Given the description of an element on the screen output the (x, y) to click on. 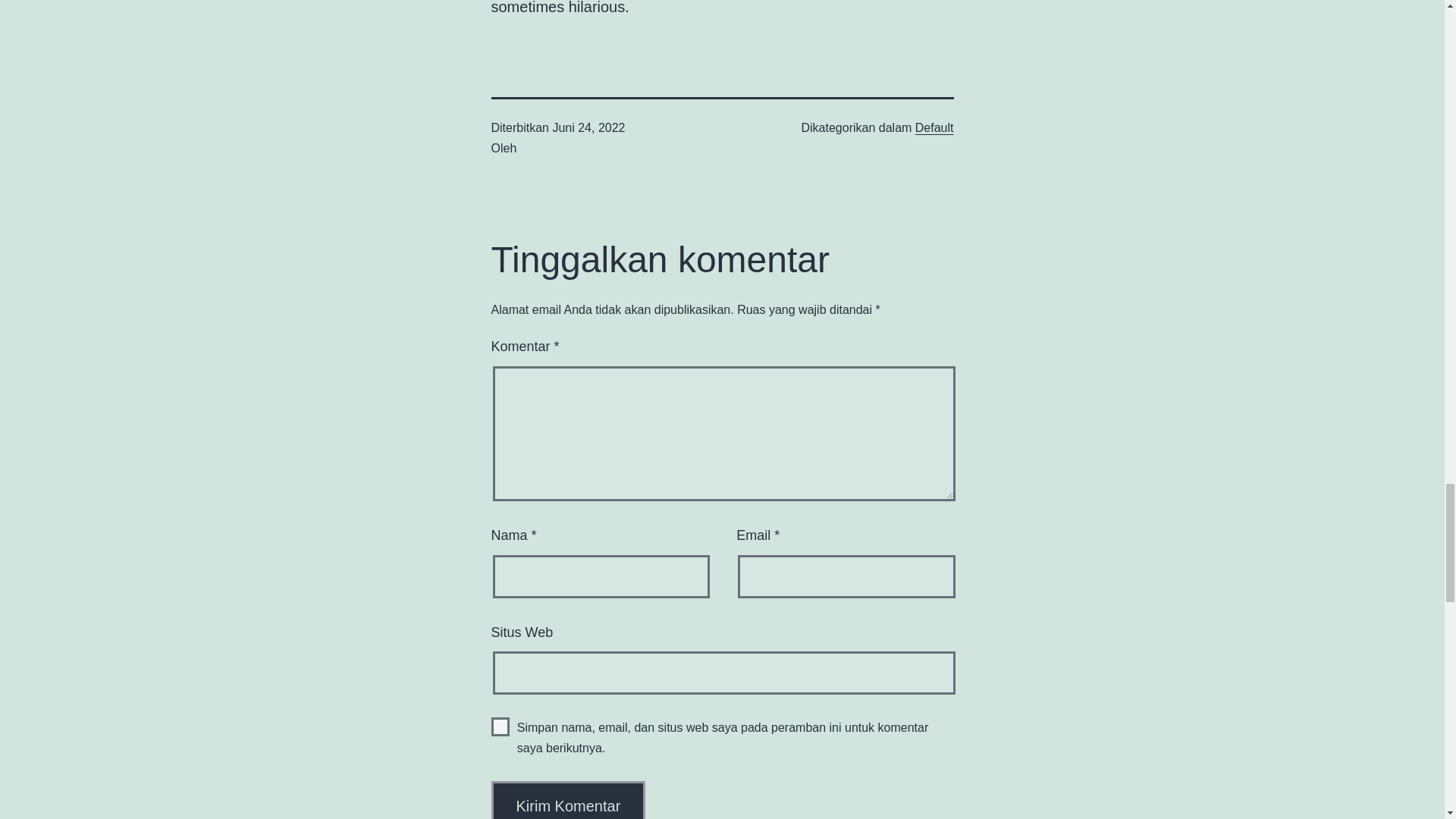
Kirim Komentar (569, 800)
Kirim Komentar (569, 800)
Default (934, 127)
yes (500, 726)
